Given the description of an element on the screen output the (x, y) to click on. 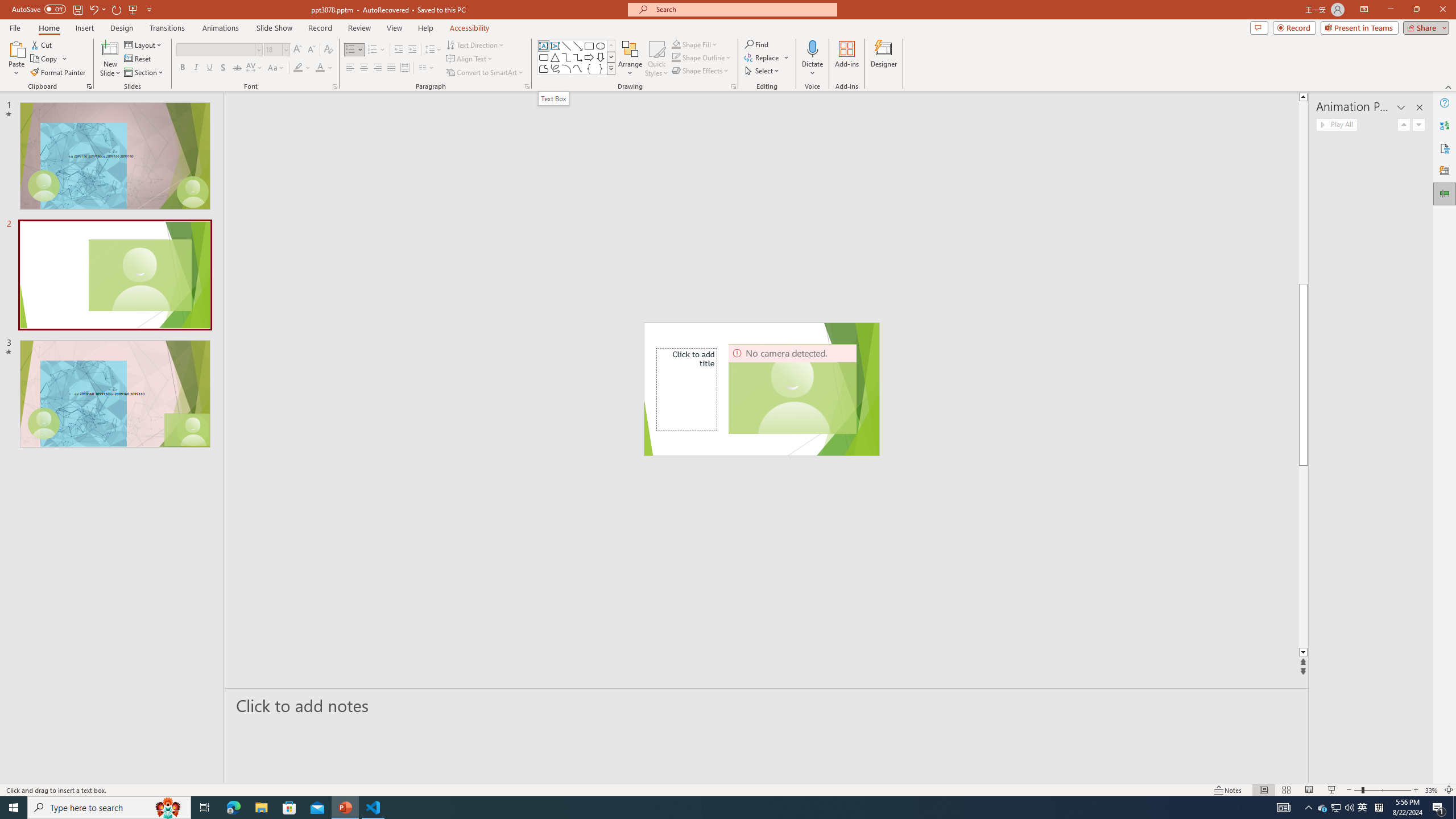
Play All (1336, 124)
Move Up (1403, 124)
Shape Outline Green, Accent 1 (675, 56)
